Given the description of an element on the screen output the (x, y) to click on. 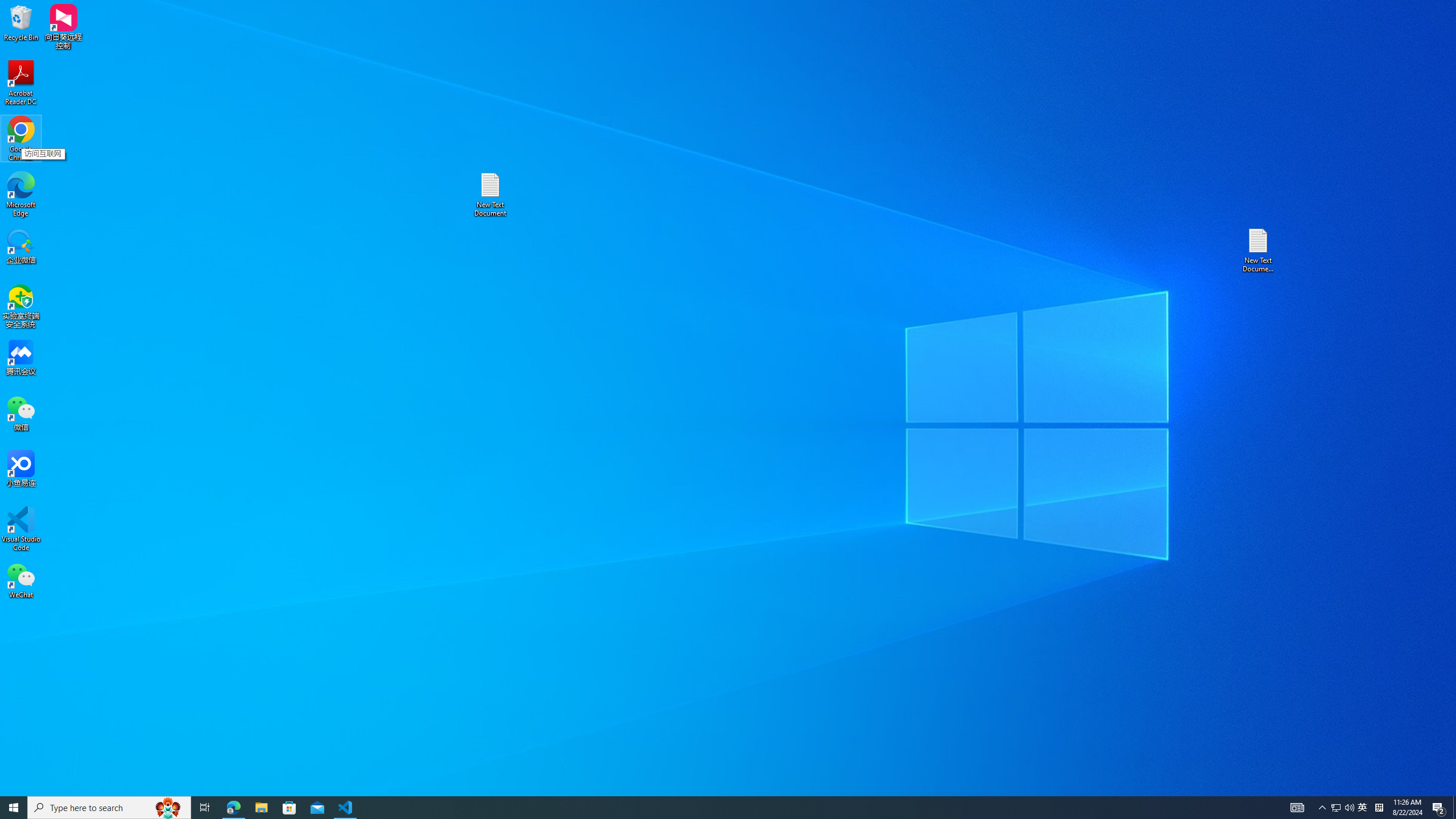
Q2790: 100% (1349, 807)
Type here to search (108, 807)
Tray Input Indicator - Chinese (Simplified, China) (1335, 807)
Recycle Bin (1362, 807)
Google Chrome (1378, 807)
Notification Chevron (21, 22)
New Text Document (21, 138)
WeChat (1322, 807)
Show desktop (489, 194)
Running applications (21, 580)
Acrobat Reader DC (1454, 807)
Microsoft Edge - 1 running window (707, 807)
